Given the description of an element on the screen output the (x, y) to click on. 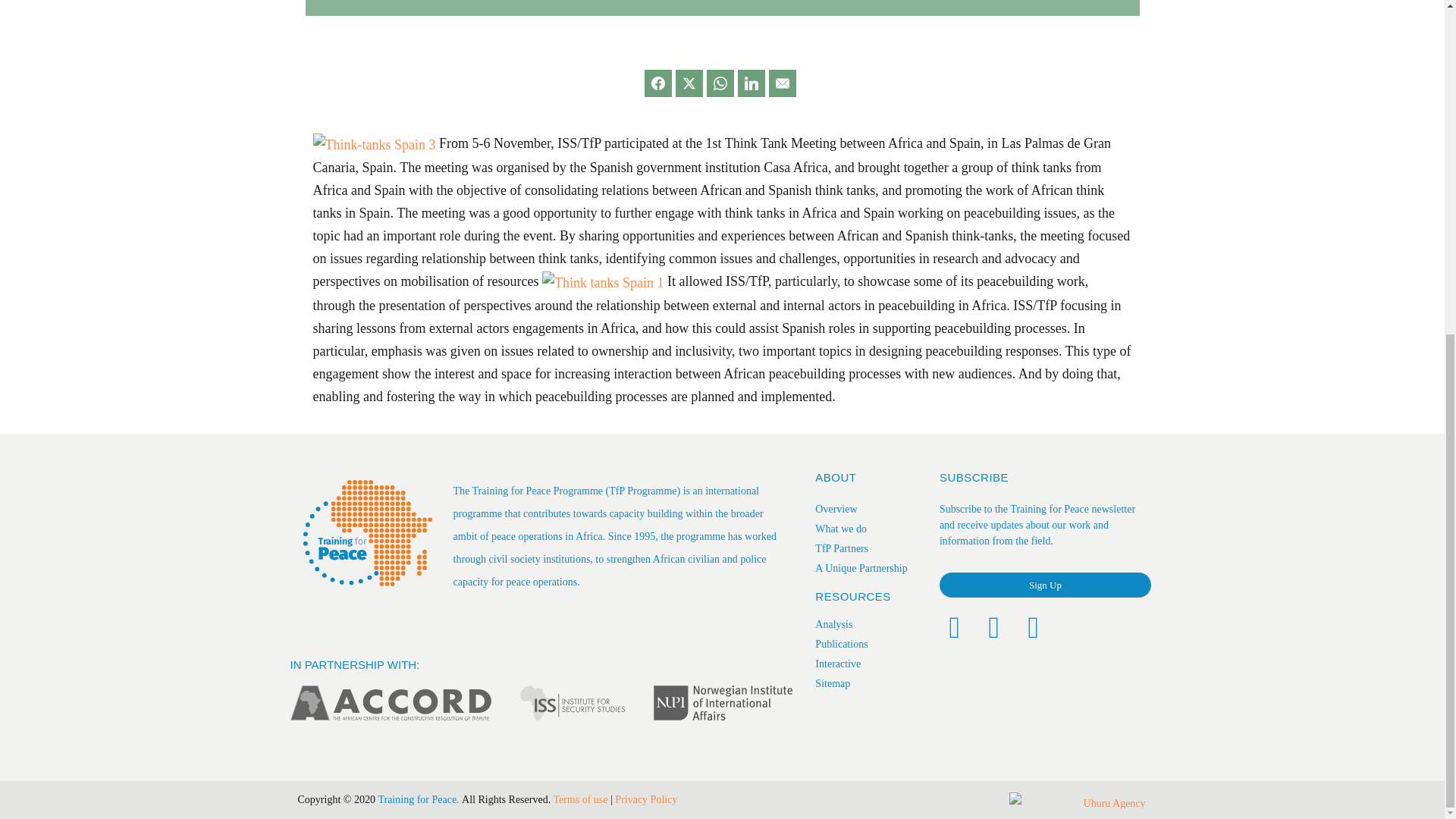
Share on Facebook (658, 83)
Share on Twitter (689, 83)
Share on LinkedIn (751, 83)
Share on WhatsApp (719, 83)
Share on Email (782, 83)
